Given the description of an element on the screen output the (x, y) to click on. 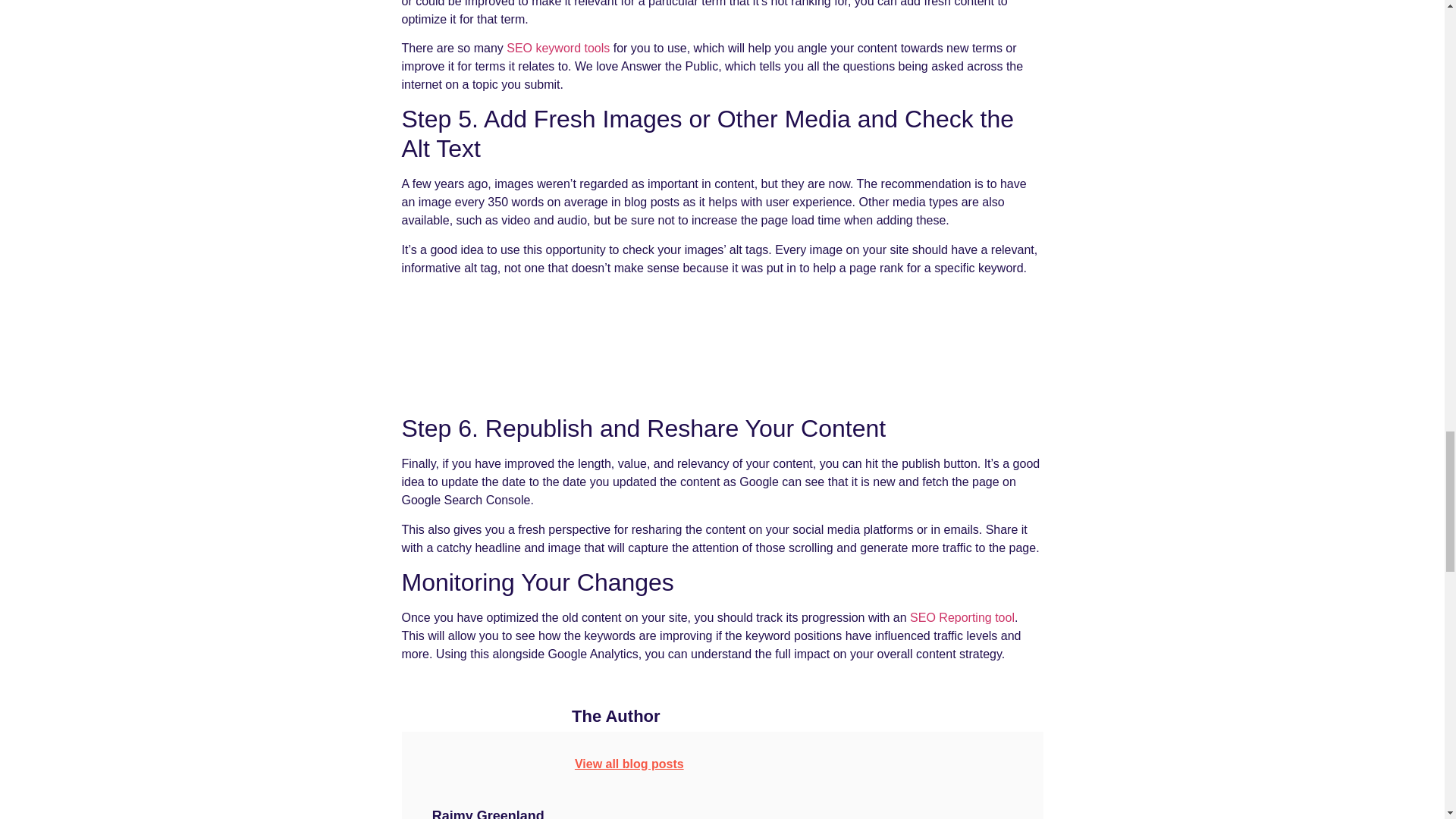
SEO Reporting tool (962, 617)
View all blog posts (629, 763)
SEO keyword tools (558, 47)
